Given the description of an element on the screen output the (x, y) to click on. 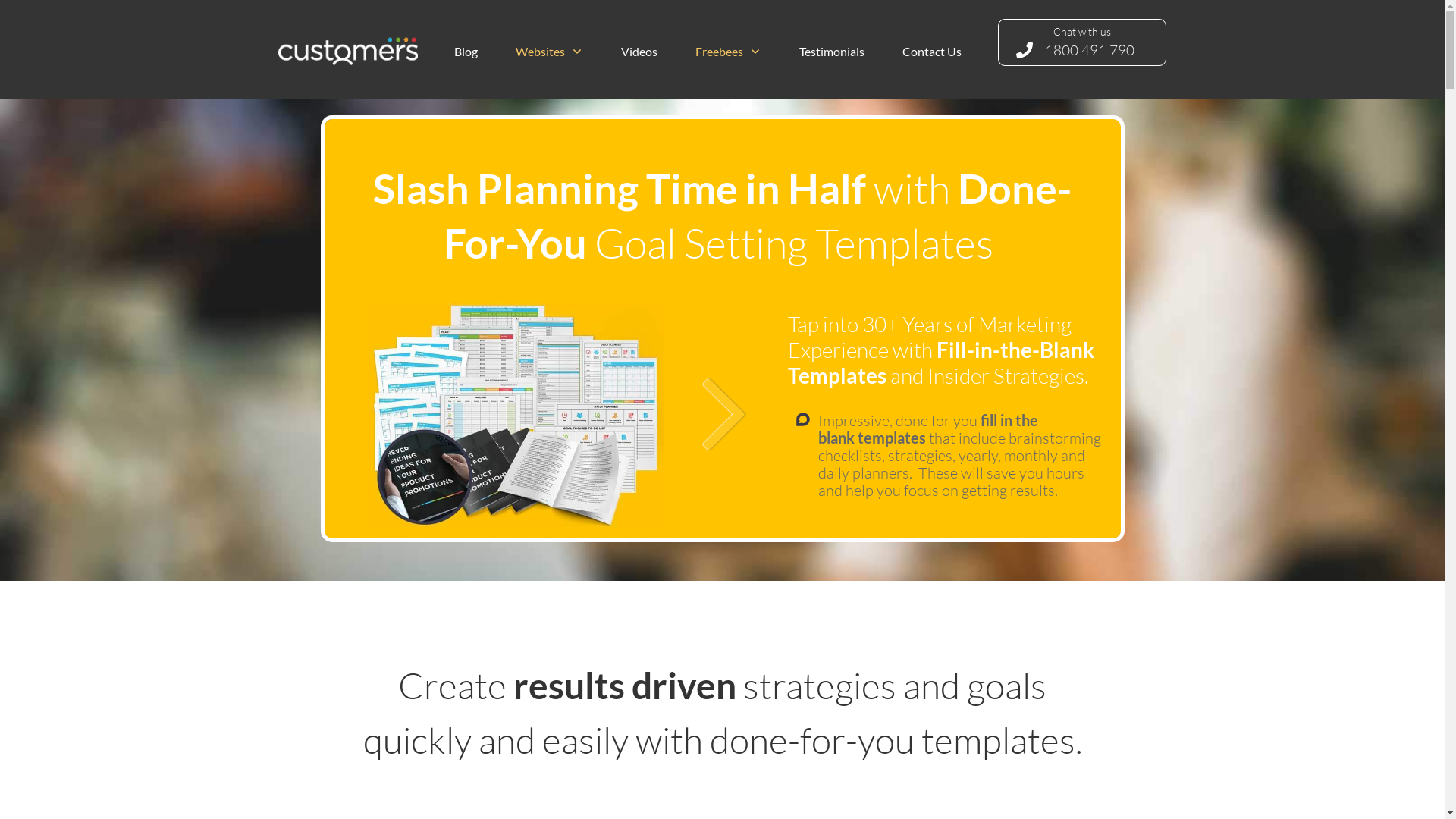
Freebees Element type: text (728, 51)
big_picture-arrow Element type: hover (724, 415)
Websites Element type: text (549, 51)
montage all items Element type: hover (515, 415)
customers logo Element type: hover (347, 49)
Contact Us Element type: text (931, 51)
Videos Element type: text (639, 51)
Blog Element type: text (465, 51)
Testimonials Element type: text (831, 51)
